Given the description of an element on the screen output the (x, y) to click on. 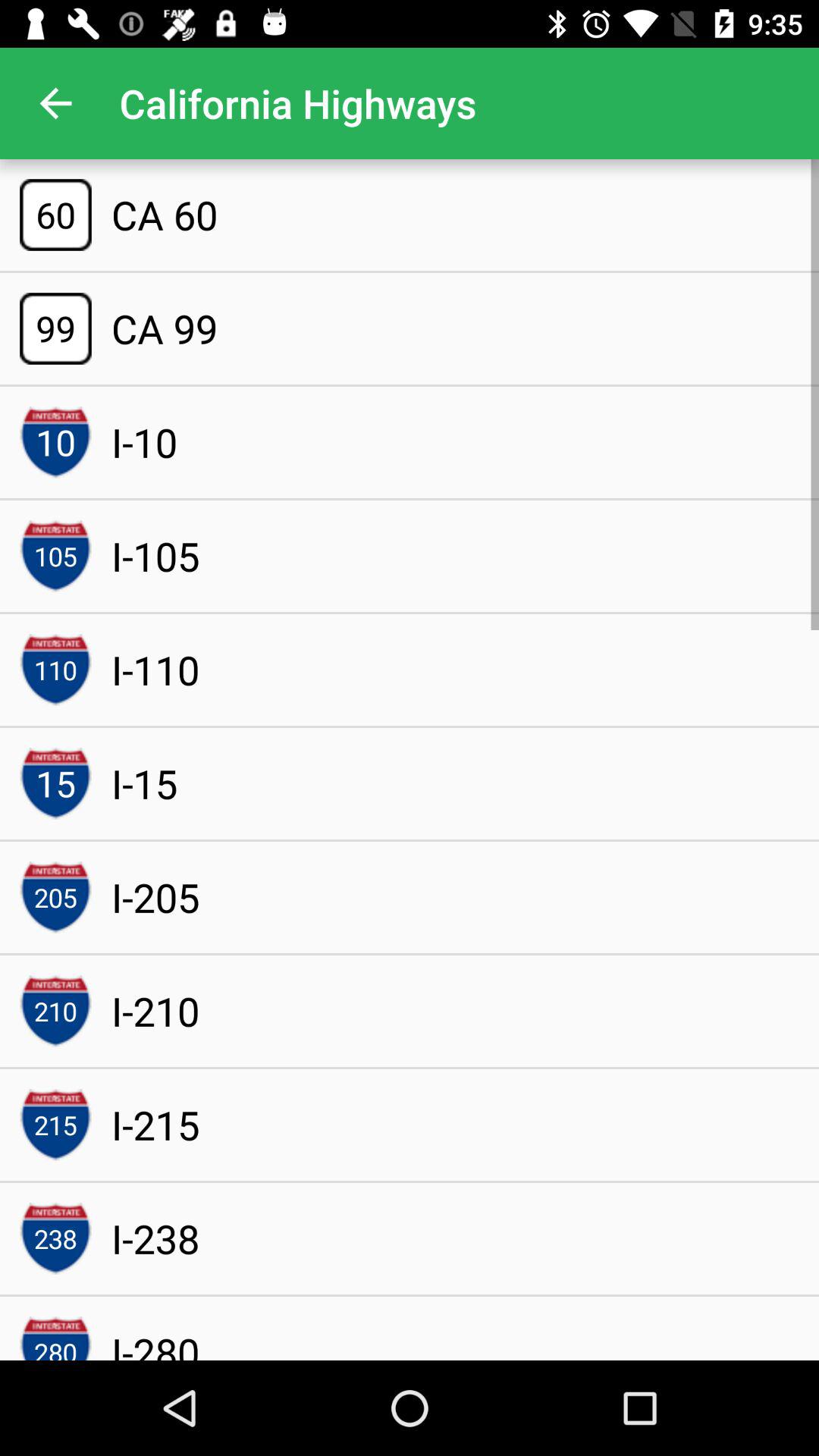
choose the i-205 item (155, 896)
